Given the description of an element on the screen output the (x, y) to click on. 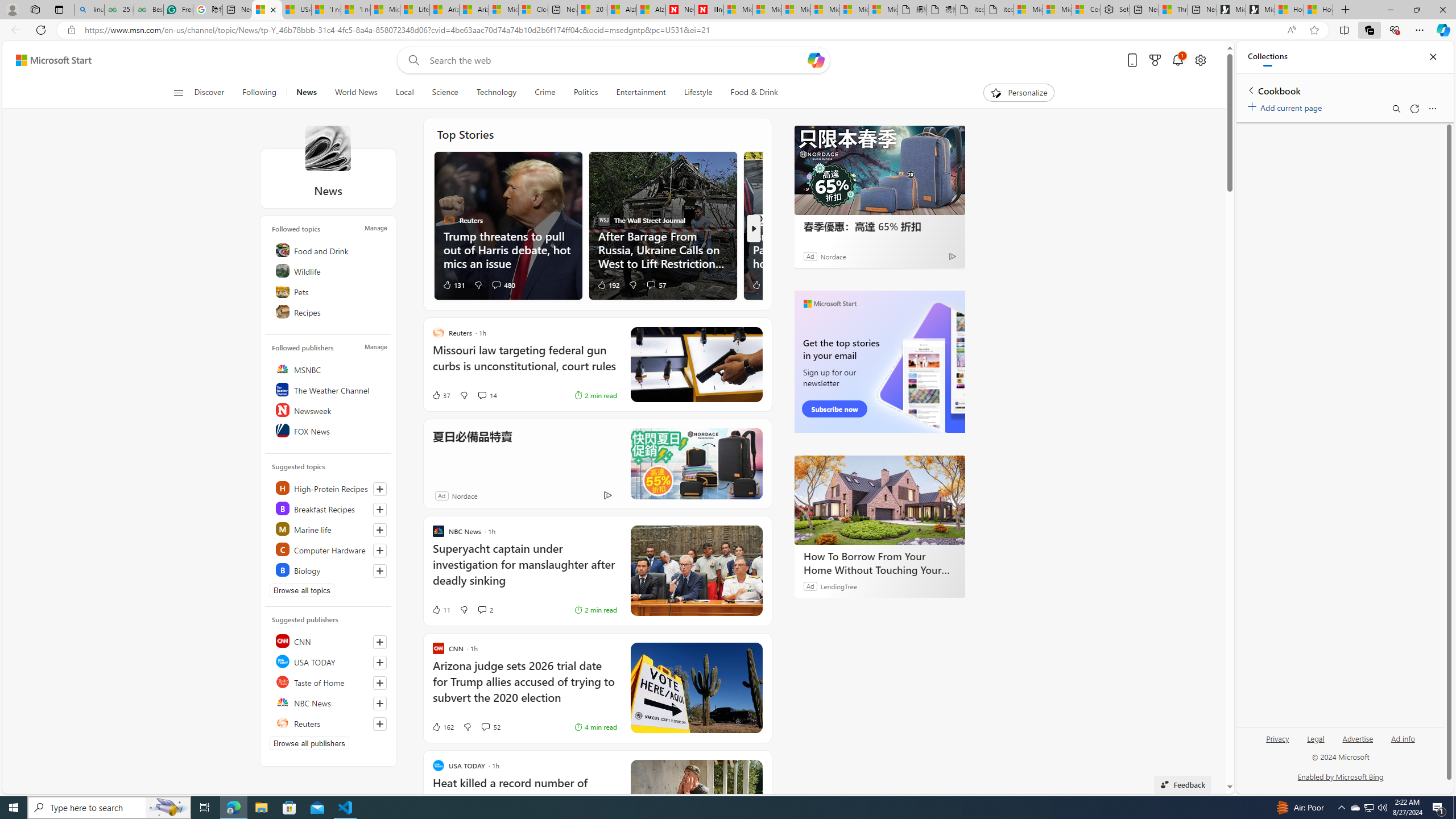
itconcepthk.com/projector_solutions.mp4 (999, 9)
View comments 14 Comment (481, 394)
20 Ways to Boost Your Protein Intake at Every Meal (591, 9)
View comments 480 Comment (496, 284)
View comments 2 Comment (481, 609)
